Given the description of an element on the screen output the (x, y) to click on. 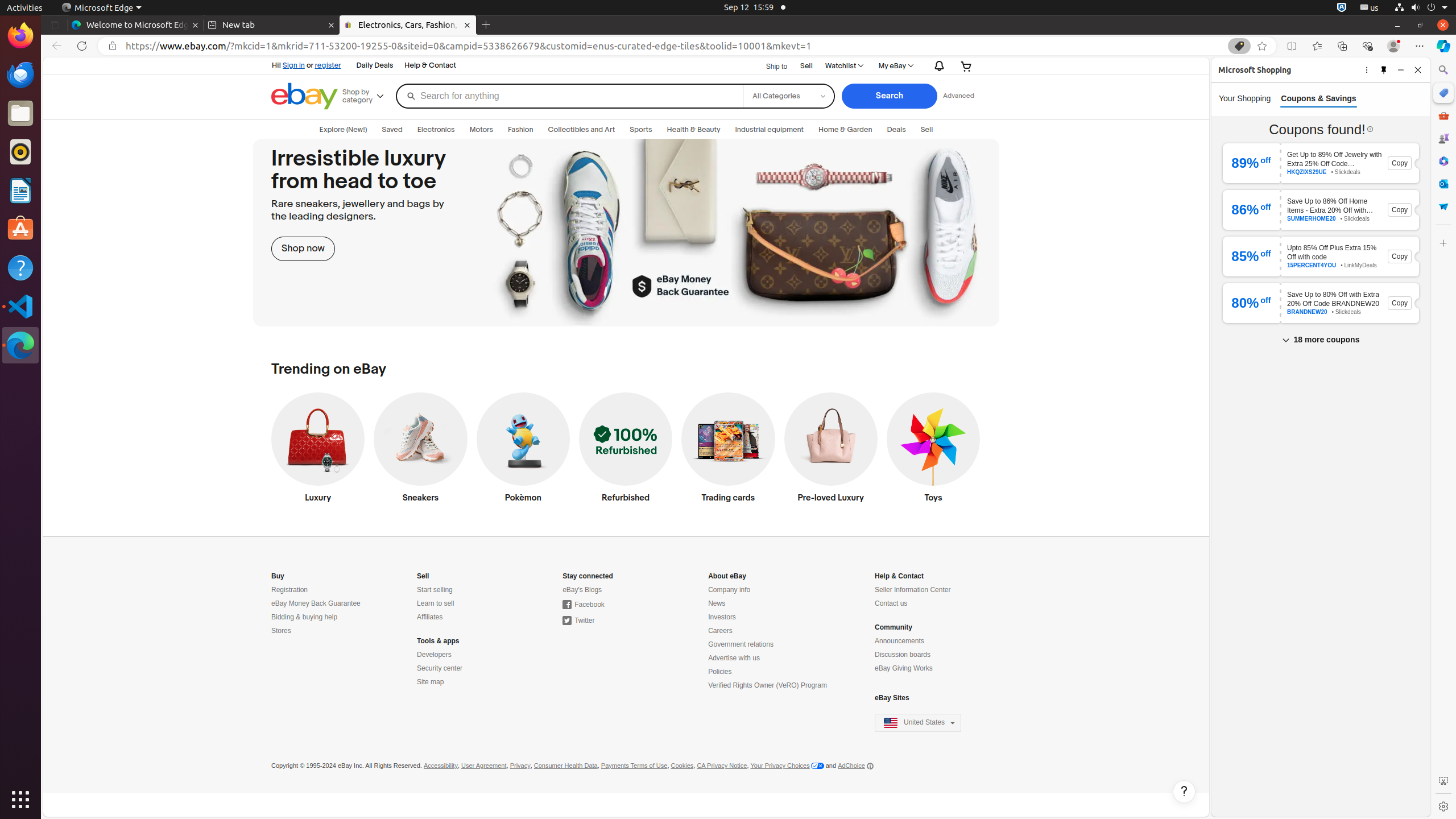
Ubuntu Software Element type: push-button (20, 229)
Watchlist Element type: link (843, 65)
AdChoice Element type: link (855, 766)
Registration Element type: link (289, 589)
Facebook Element type: link (583, 604)
